Given the description of an element on the screen output the (x, y) to click on. 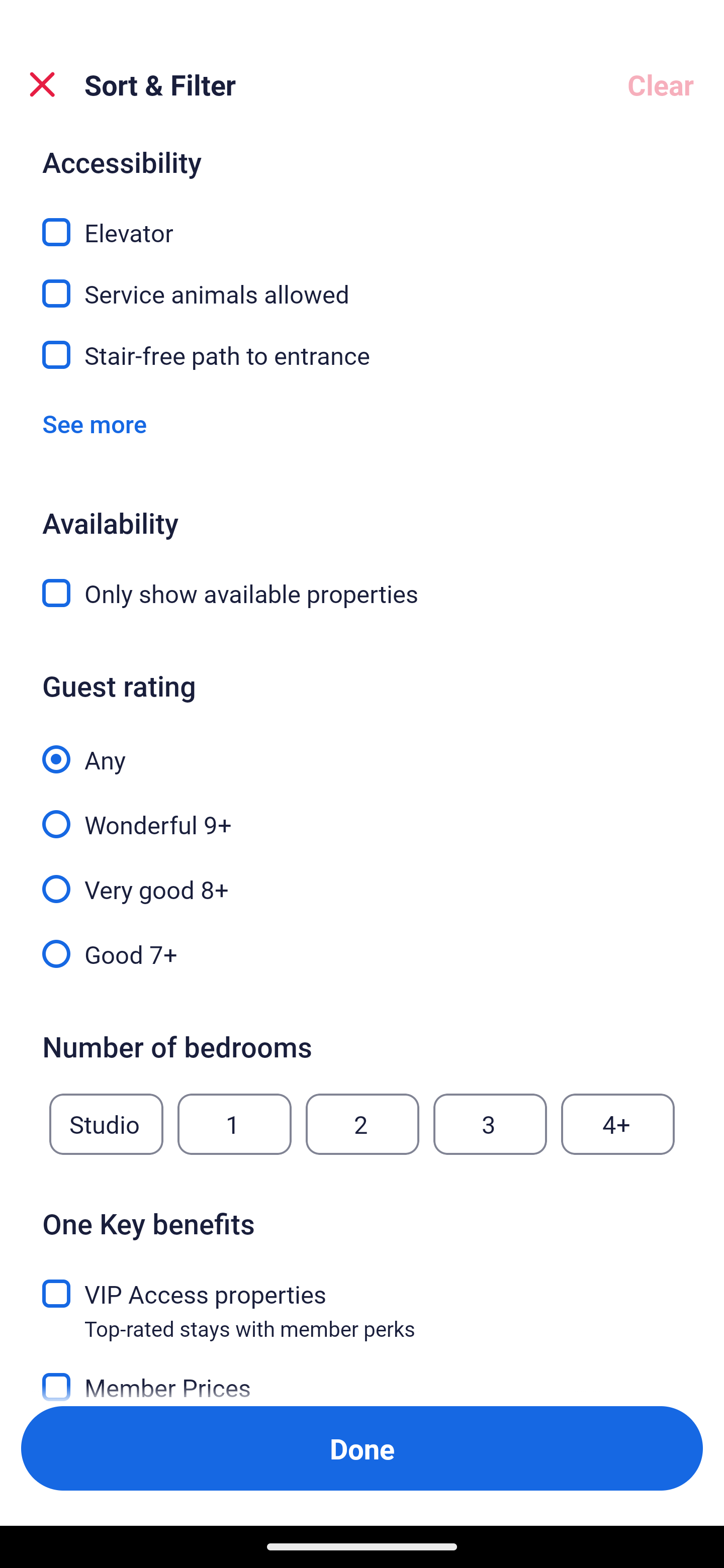
Close Sort and Filter (42, 84)
Clear (660, 84)
Elevator, Elevator (361, 220)
Service animals allowed, Service animals allowed (361, 282)
See more See more accessibility options Link (93, 423)
Wonderful 9+ (361, 812)
Very good 8+ (361, 878)
Good 7+ (361, 953)
Studio (106, 1123)
1 (234, 1123)
2 (362, 1123)
3 (490, 1123)
4+ (617, 1123)
Member Prices, Member Prices (361, 1381)
Apply and close Sort and Filter Done (361, 1448)
